Given the description of an element on the screen output the (x, y) to click on. 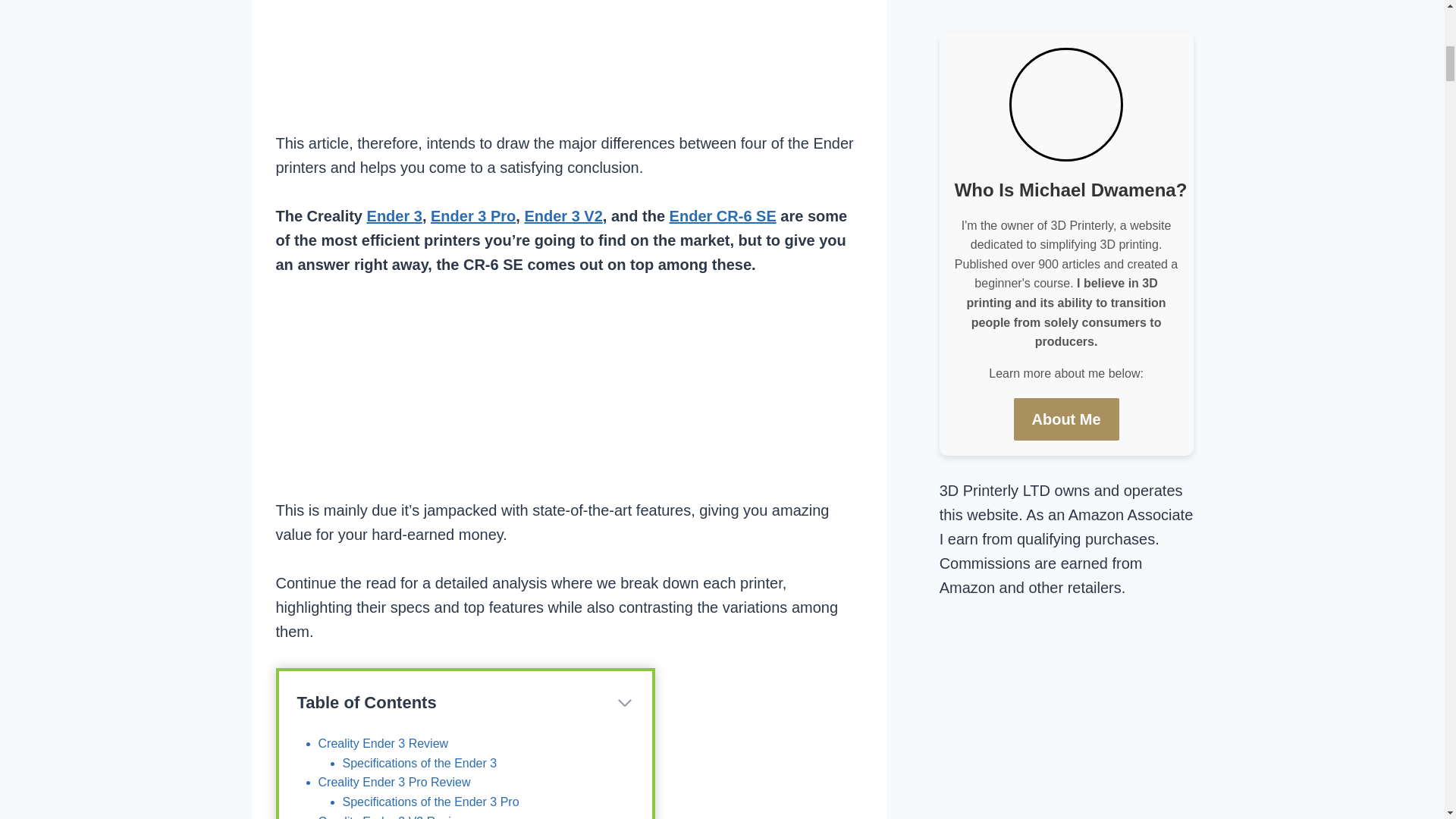
Ender 3 Pro (472, 216)
Specifications of the Ender 3 (419, 762)
Ender 3 V2 (563, 216)
Creality Ender 3 Review (383, 743)
Creality Ender 3 V2 Review (392, 816)
Ender CR-6 SE (722, 216)
Creality Ender 3 Pro Review (394, 781)
Specifications of the Ender 3 Pro (430, 801)
Ender 3 (394, 216)
